Given the description of an element on the screen output the (x, y) to click on. 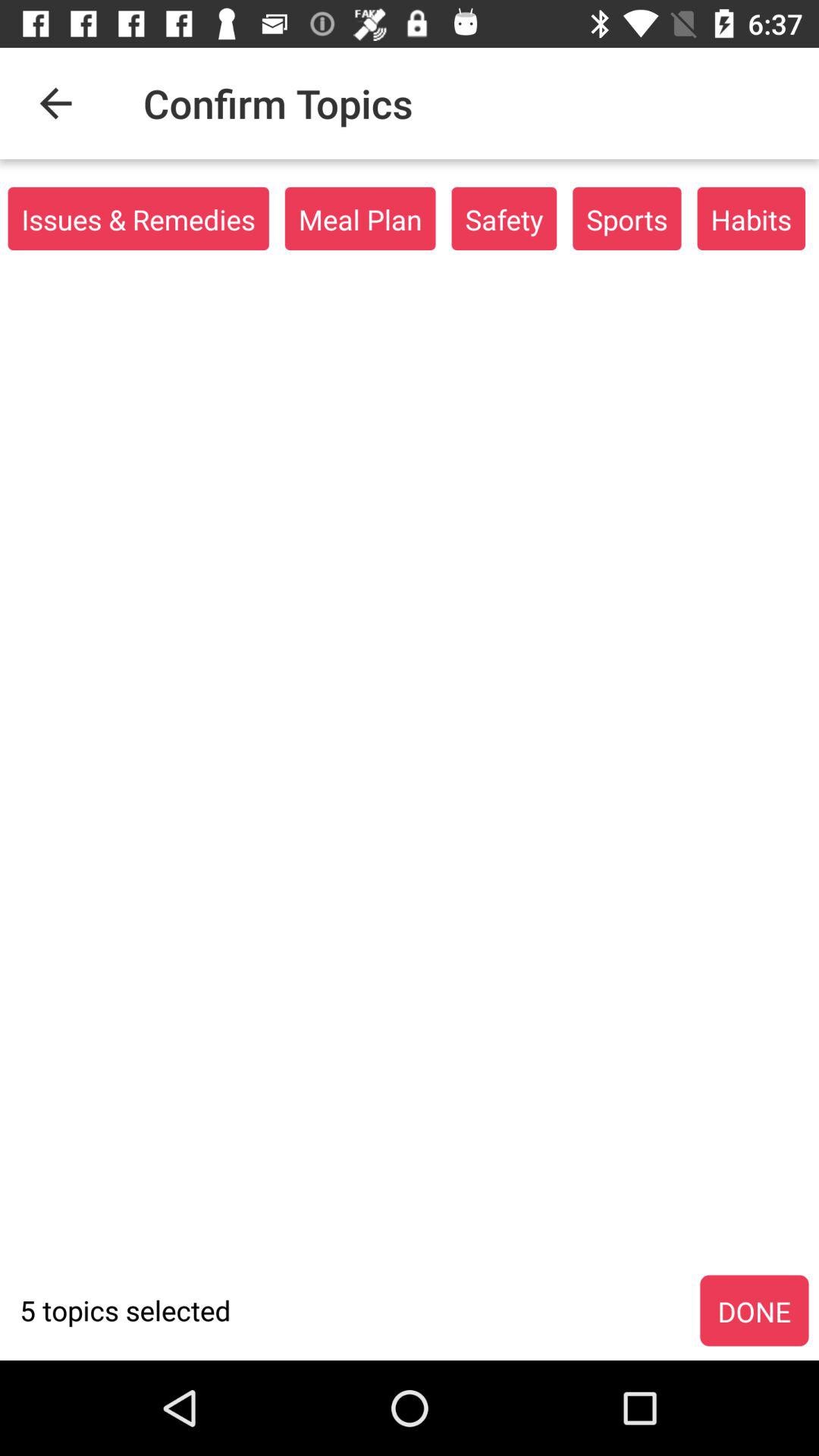
click item below the habits (754, 1311)
